Given the description of an element on the screen output the (x, y) to click on. 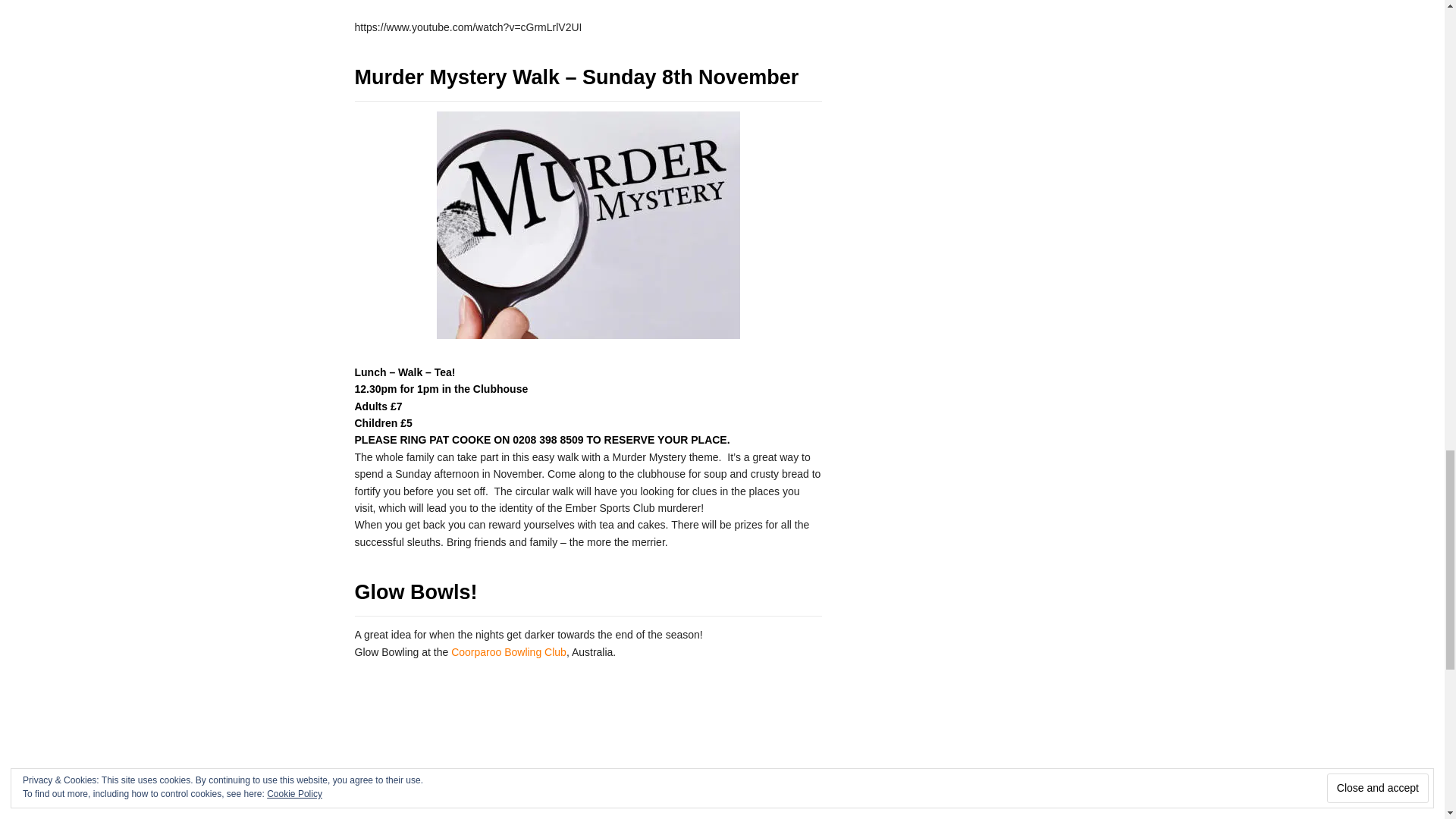
Permalink to Glow Bowls! (416, 591)
Glow Bowls! (416, 591)
Coorparoo Bowling Club (508, 652)
Glow Bowls at the Coorparoo Bowls Club (590, 739)
